Given the description of an element on the screen output the (x, y) to click on. 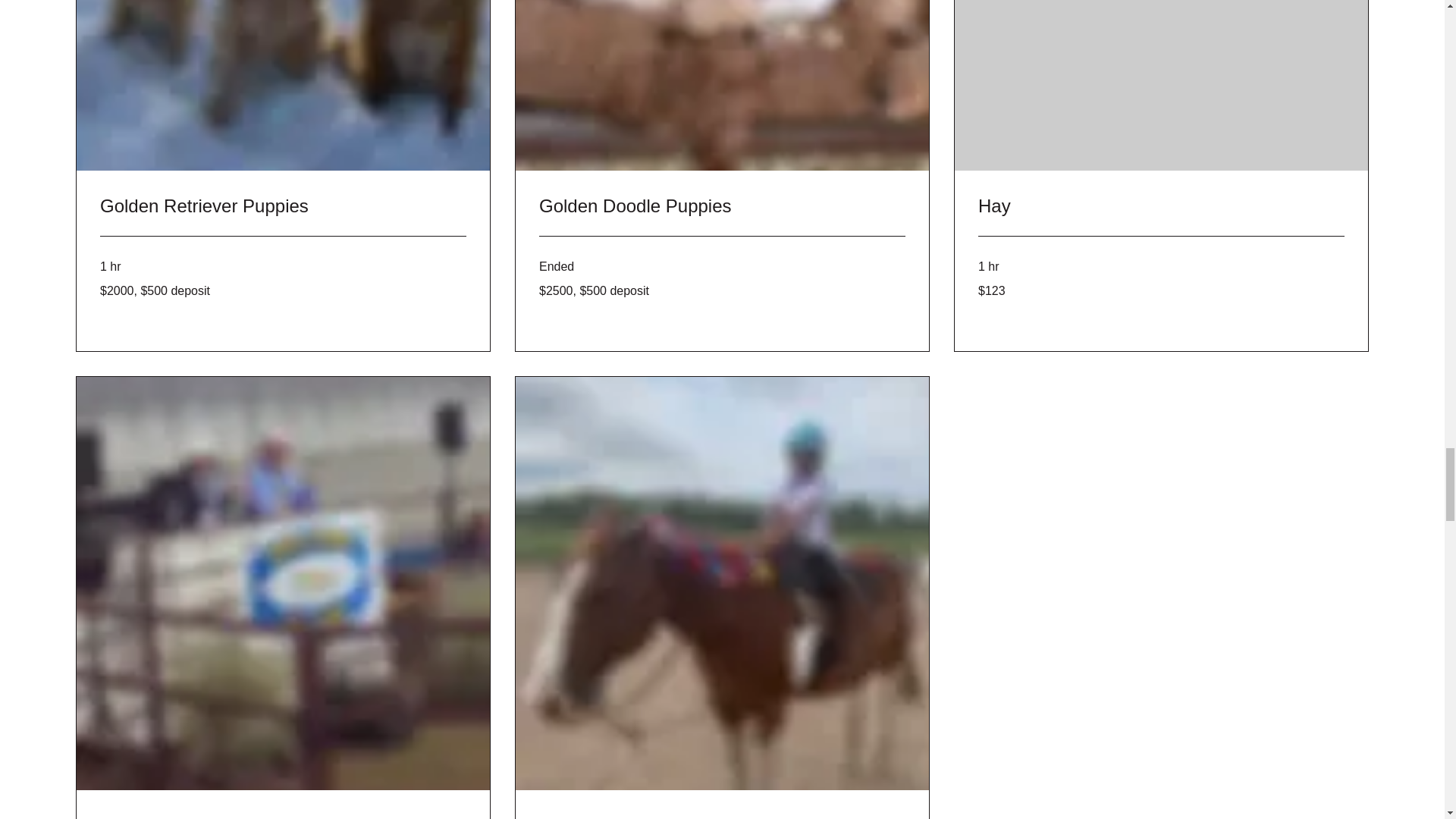
Horses for Sale (721, 816)
Golden Doodle Puppies (721, 206)
Auctioneer or Ring Man for Sales (282, 816)
Hay (1160, 206)
Golden Retriever Puppies (282, 206)
